Given the description of an element on the screen output the (x, y) to click on. 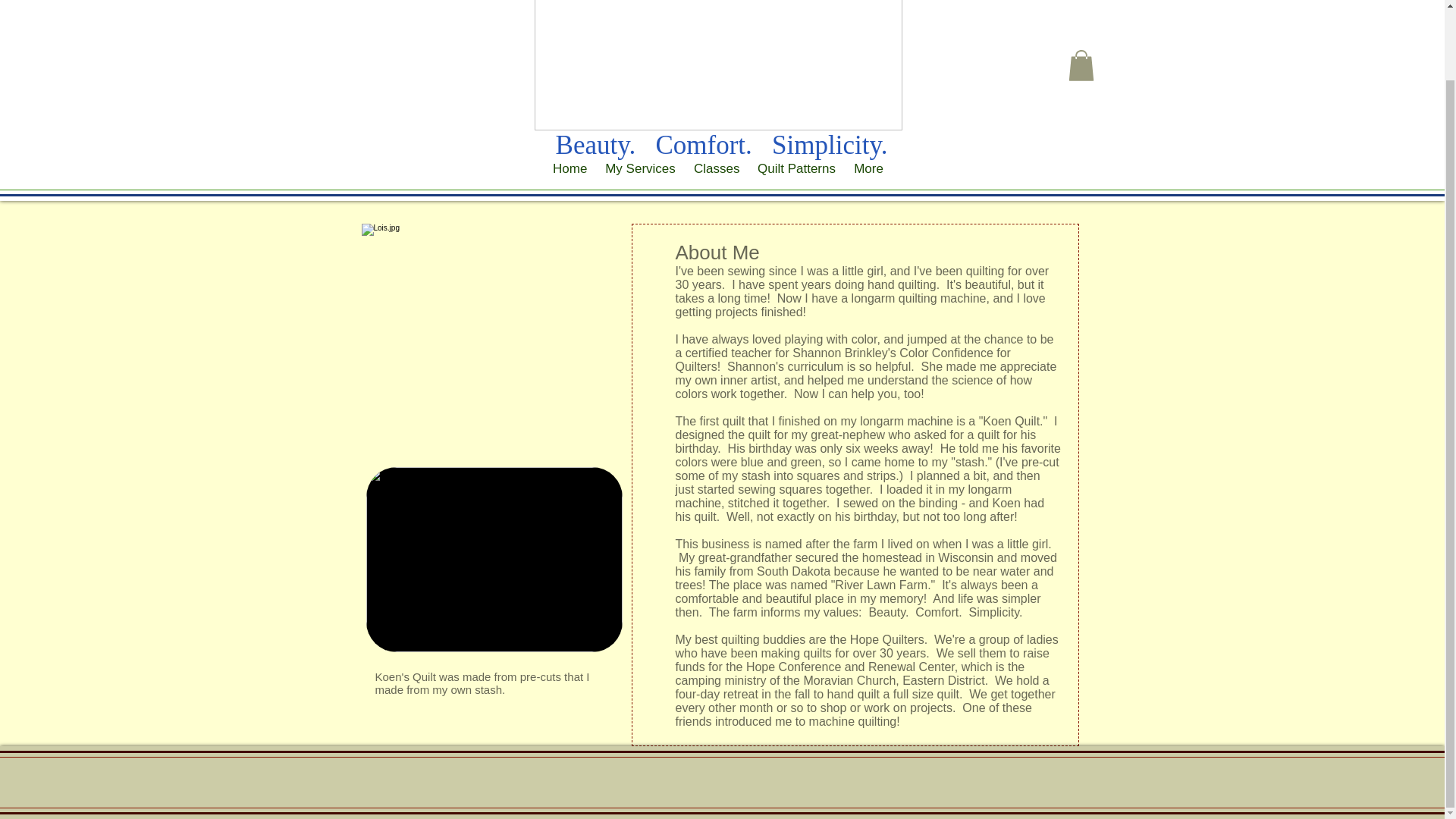
My Logo (717, 65)
My Services (639, 168)
Home (569, 168)
Quilt Patterns (796, 168)
Classes (716, 168)
